Given the description of an element on the screen output the (x, y) to click on. 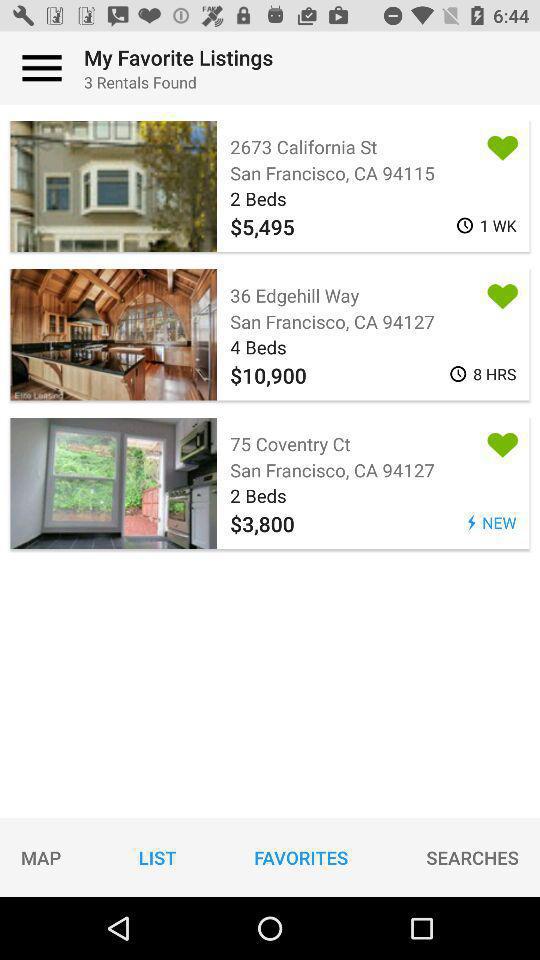
click icon to the left of the list item (41, 857)
